Given the description of an element on the screen output the (x, y) to click on. 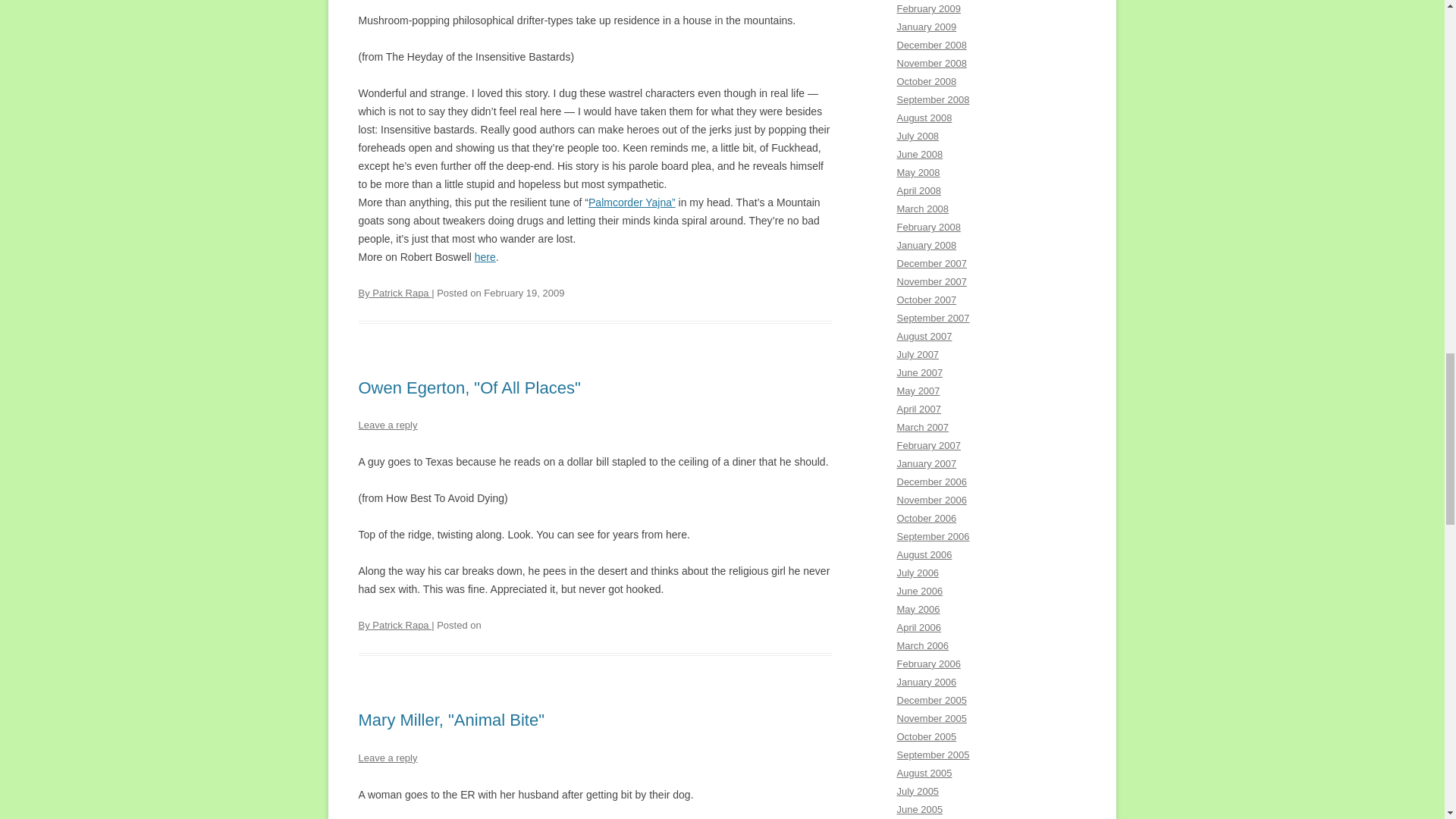
By Patrick Rapa (394, 624)
Permalink to Owen Egerton, "Of All Places" (468, 387)
here (485, 256)
Leave a reply (387, 424)
Comment on Mary Miller, "Animal Bite" (387, 757)
By Patrick Rapa (394, 292)
Leave a reply (387, 757)
Owen Egerton, "Of All Places" (468, 387)
Mary Miller, "Animal Bite" (450, 719)
Permalink to Mary Miller, "Animal Bite" (450, 719)
Comment on Owen Egerton, "Of All Places" (387, 424)
